Given the description of an element on the screen output the (x, y) to click on. 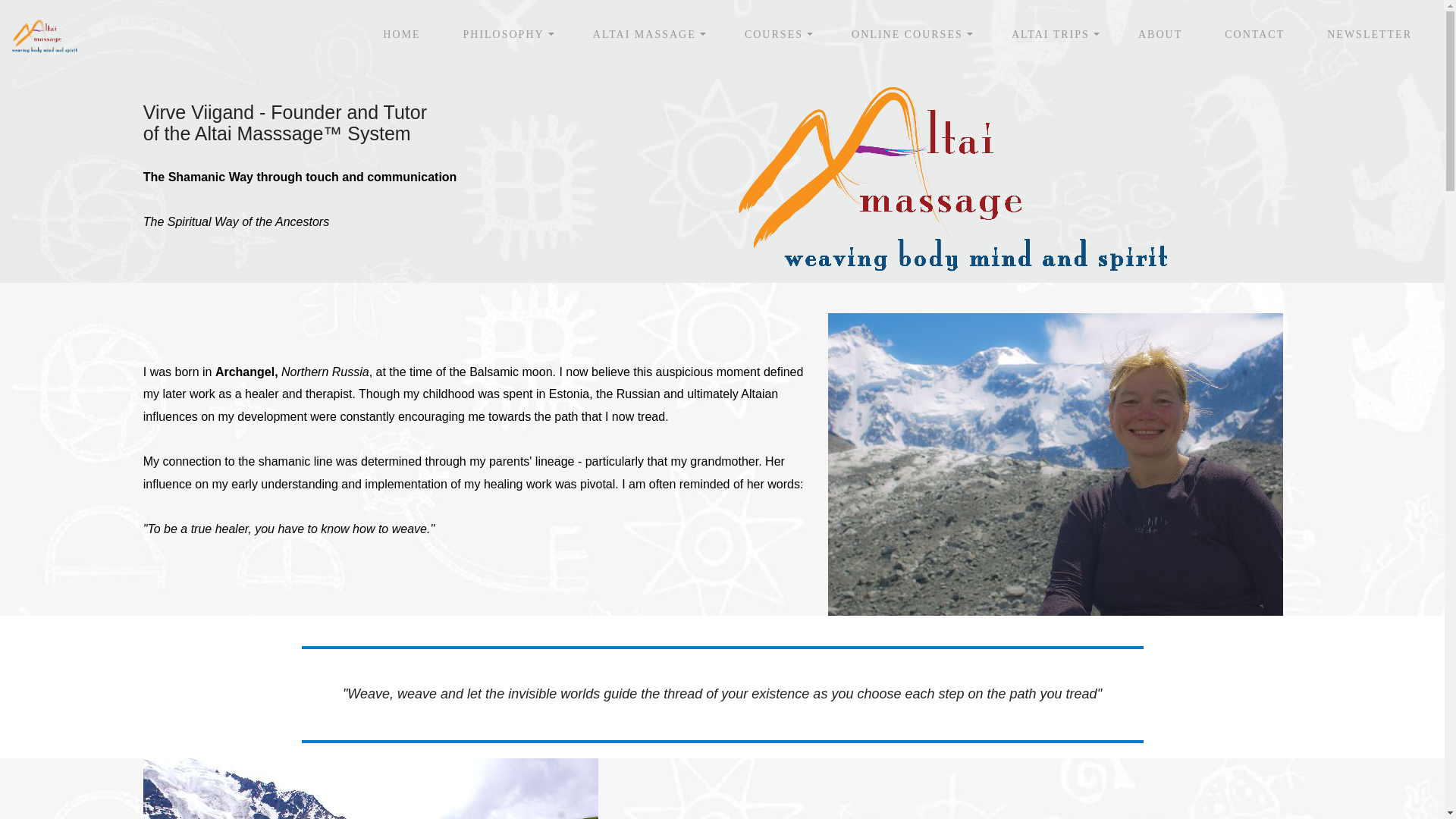
COURSES (773, 33)
ABOUT (1160, 33)
HOME (401, 33)
NEWSLETTER (1369, 33)
CONTACT (1254, 33)
ALTAI TRIPS (1050, 33)
ALTAI MASSAGE (643, 33)
PHILOSOPHY (503, 33)
ONLINE COURSES (906, 33)
